Given the description of an element on the screen output the (x, y) to click on. 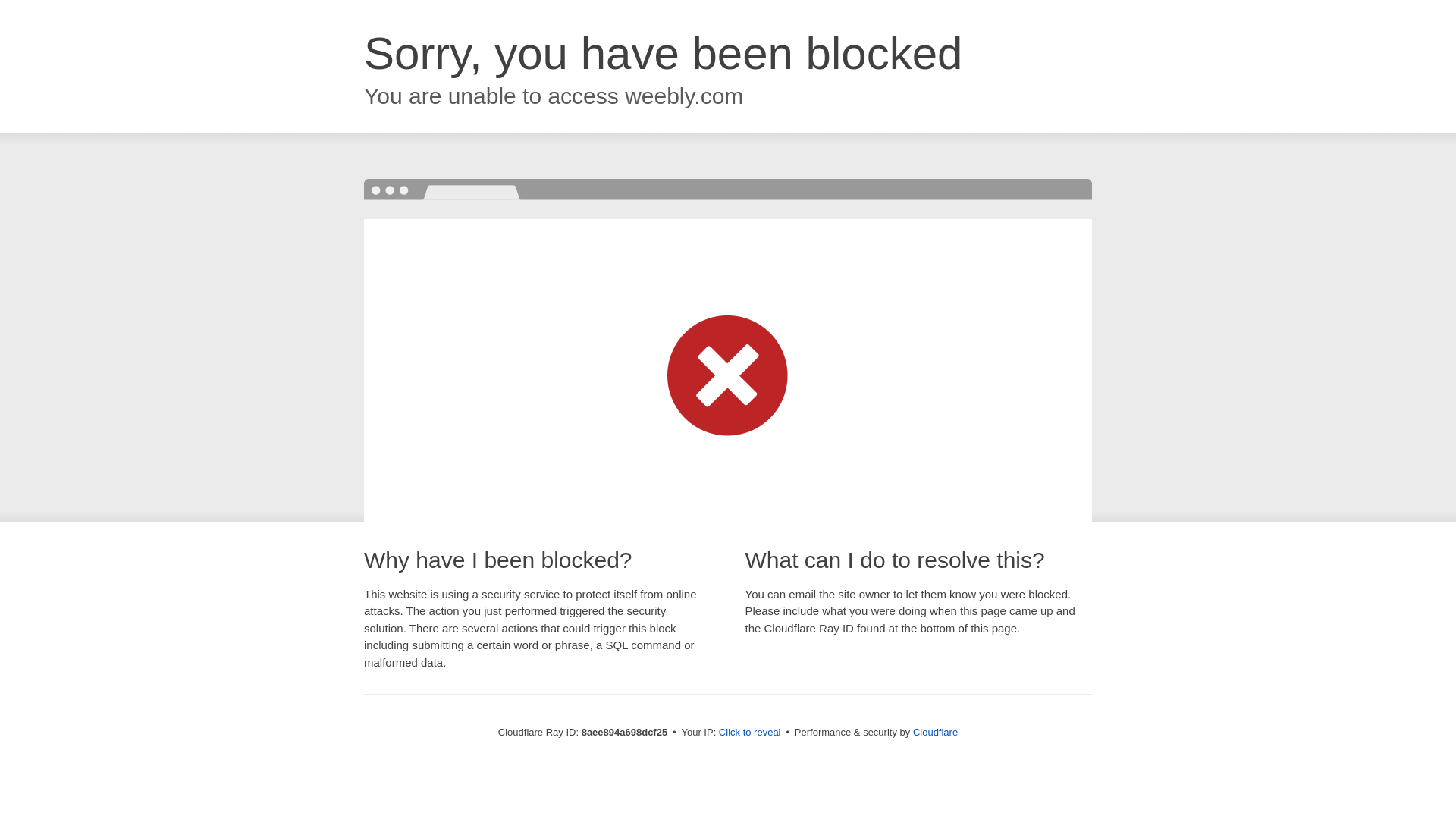
Click to reveal (749, 732)
Cloudflare (935, 731)
